Given the description of an element on the screen output the (x, y) to click on. 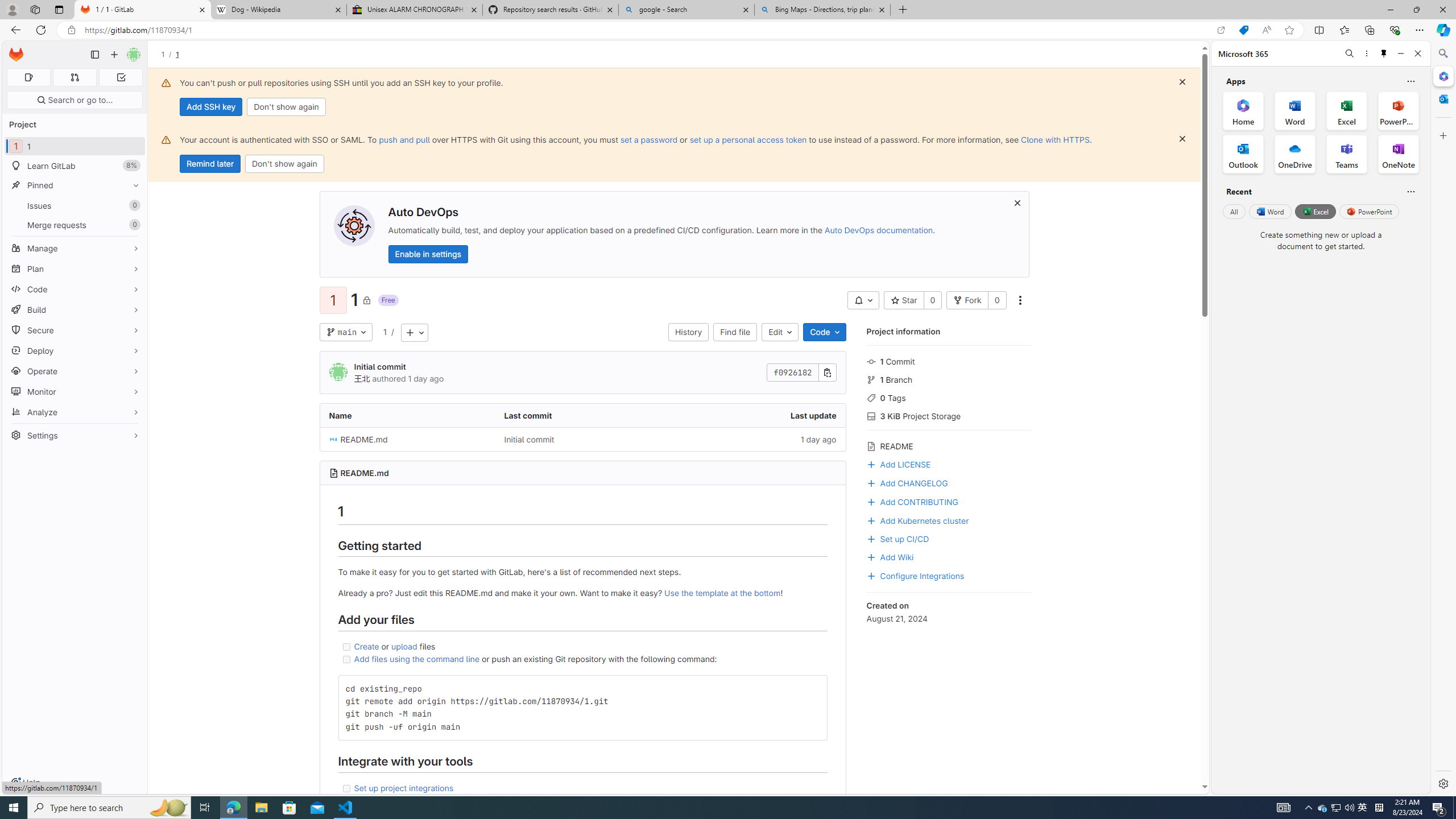
Add Kubernetes cluster (917, 519)
Unpin Issues (132, 205)
Class: tree-item (582, 439)
Add CONTRIBUTING (912, 501)
set a password (649, 139)
Secure (74, 330)
Home Office App (1243, 110)
Word (1269, 210)
Initial commit (528, 439)
Set up project integrations (582, 788)
